Given the description of an element on the screen output the (x, y) to click on. 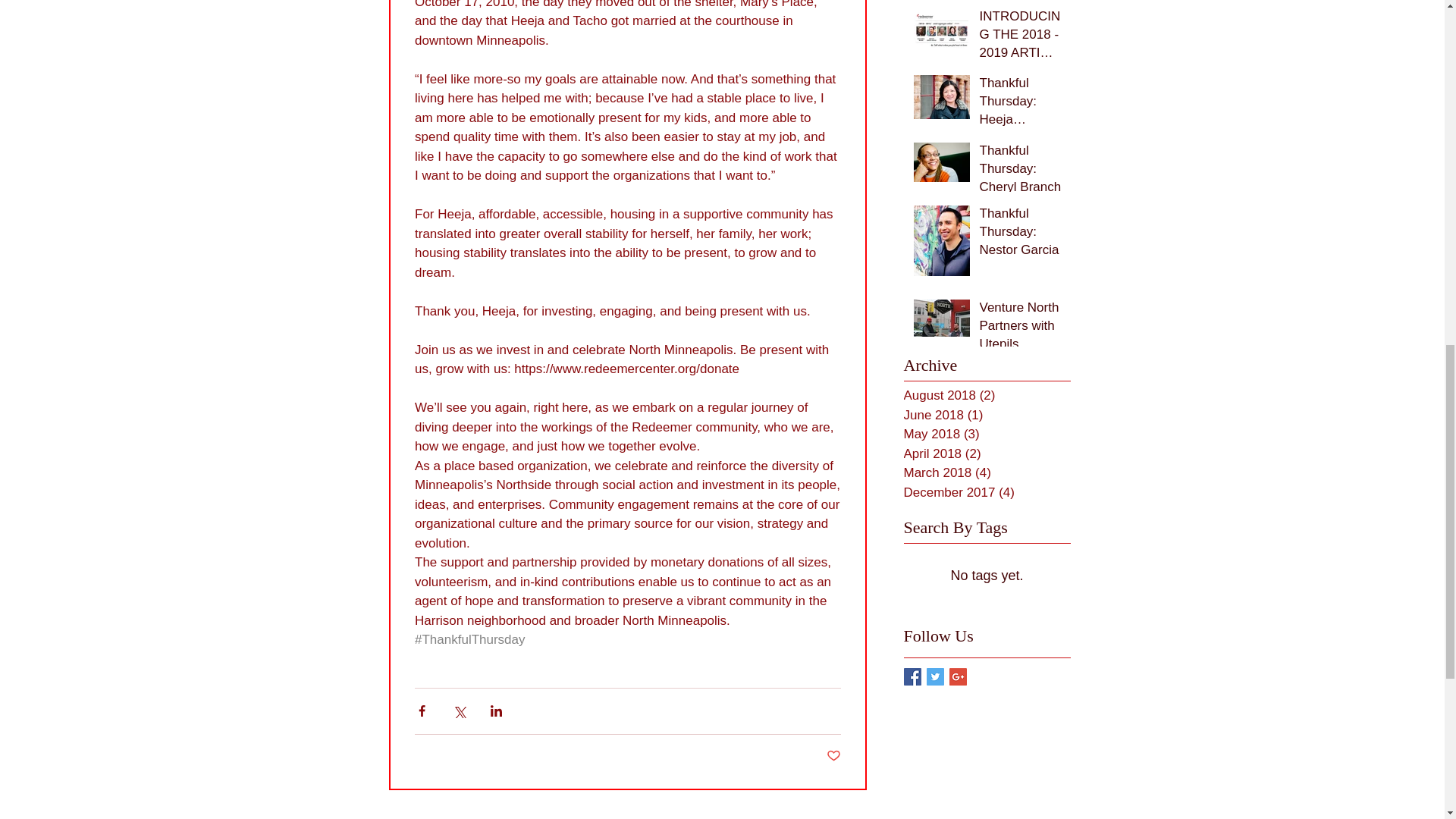
Post not marked as liked (834, 756)
Thankful Thursday: Cheryl Branch (1020, 171)
INTRODUCING THE 2018 - 2019 ARTIST ORGANIZER COHORT (1020, 37)
Venture North Partners with Utepils Brewing Co. (1020, 328)
Thankful Thursday: Nestor Garcia (1020, 234)
Thankful Thursday: Heeja Martinez (1020, 104)
